Given the description of an element on the screen output the (x, y) to click on. 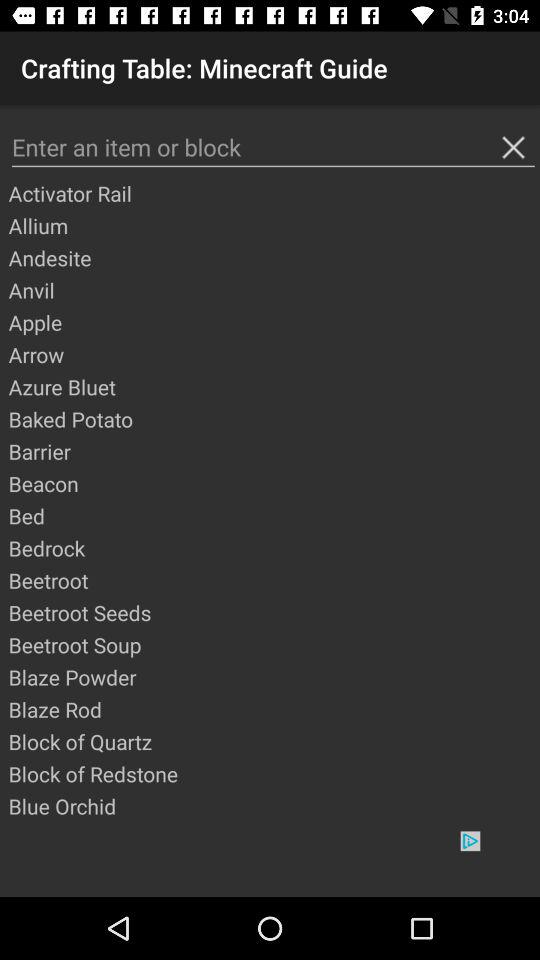
close the window (513, 147)
